Given the description of an element on the screen output the (x, y) to click on. 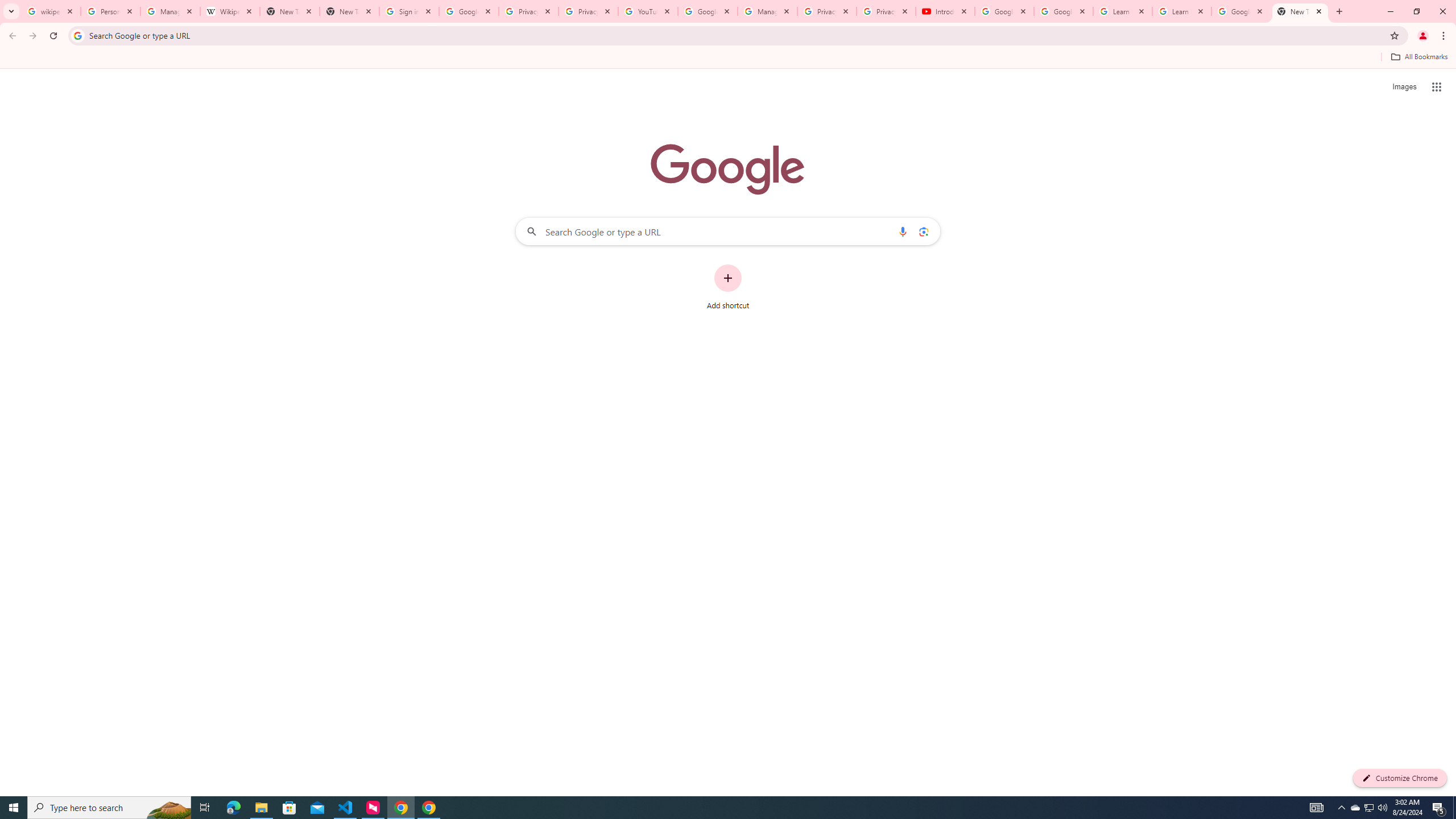
Add shortcut (727, 287)
Sign in - Google Accounts (409, 11)
YouTube (647, 11)
Google Account (1241, 11)
Manage your Location History - Google Search Help (170, 11)
Customize Chrome (1399, 778)
Google Account Help (1004, 11)
